Given the description of an element on the screen output the (x, y) to click on. 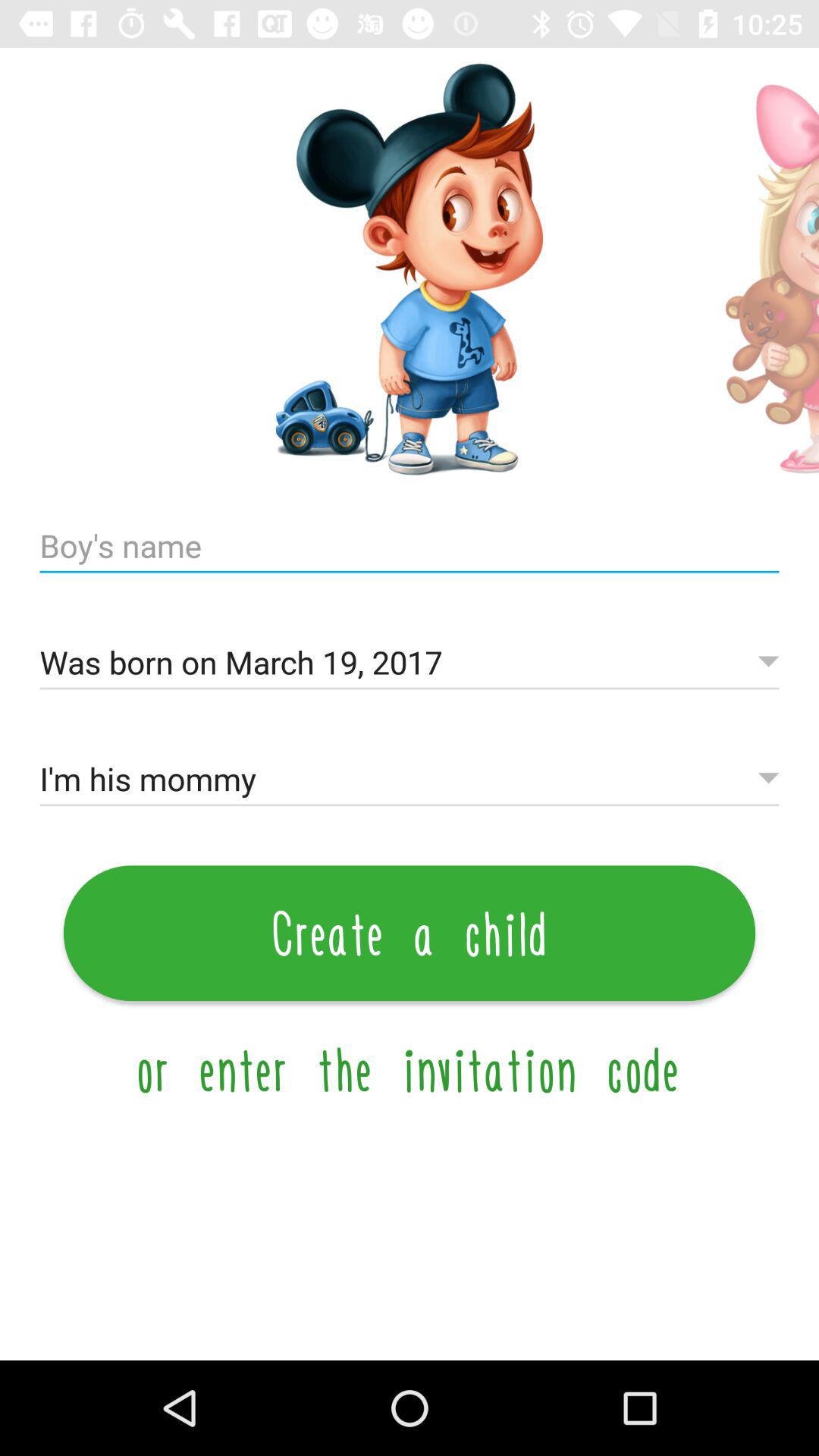
choose the item above i m his item (409, 662)
